Given the description of an element on the screen output the (x, y) to click on. 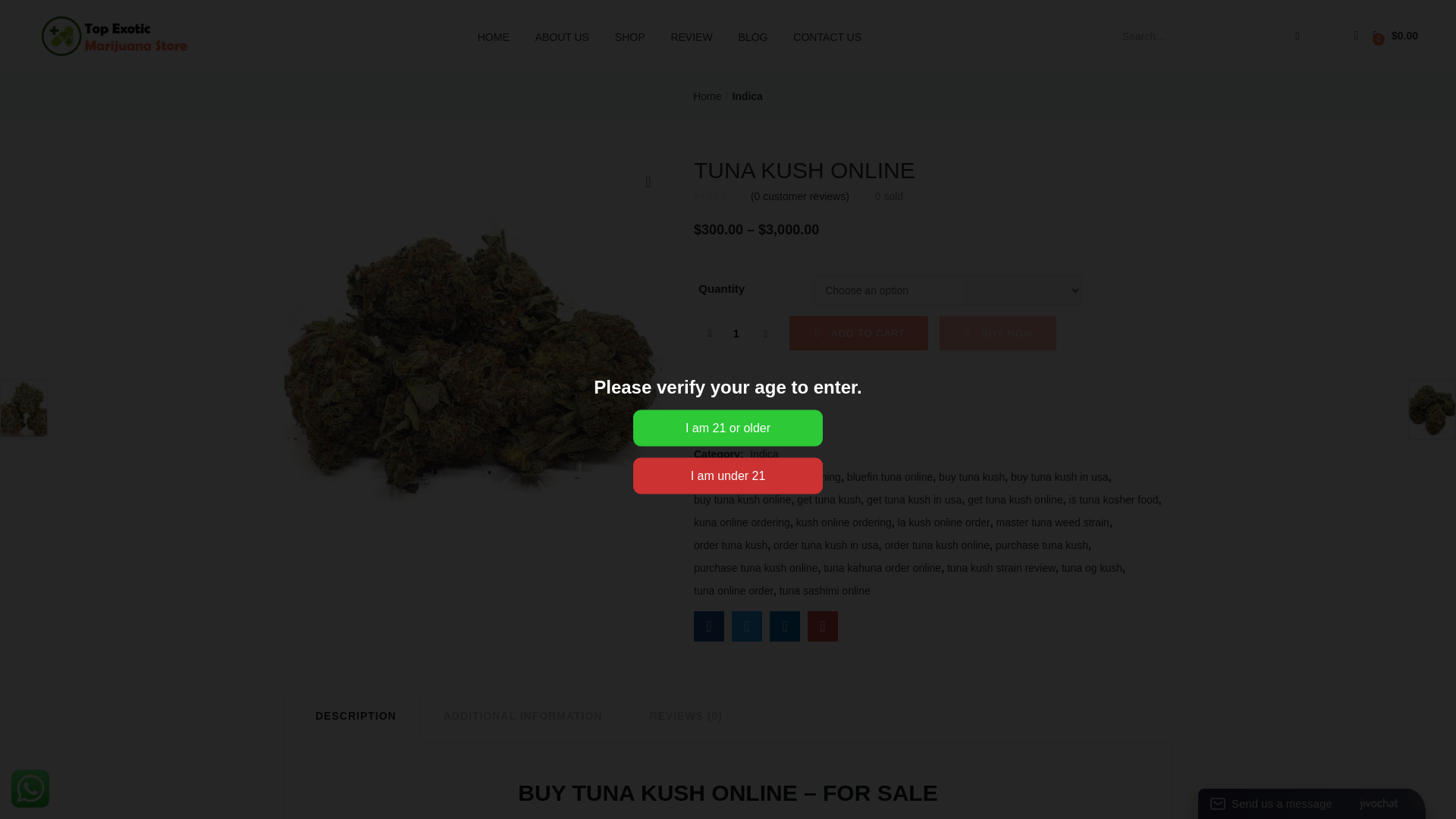
ABOUT US (561, 36)
I am under 21 (727, 475)
View your shopping cart (1395, 36)
TUNA KUSH ONLINE (823, 625)
I am 21 or older (727, 427)
TUNA KUSH ONLINE (708, 625)
CONTACT US (826, 36)
